Given the description of an element on the screen output the (x, y) to click on. 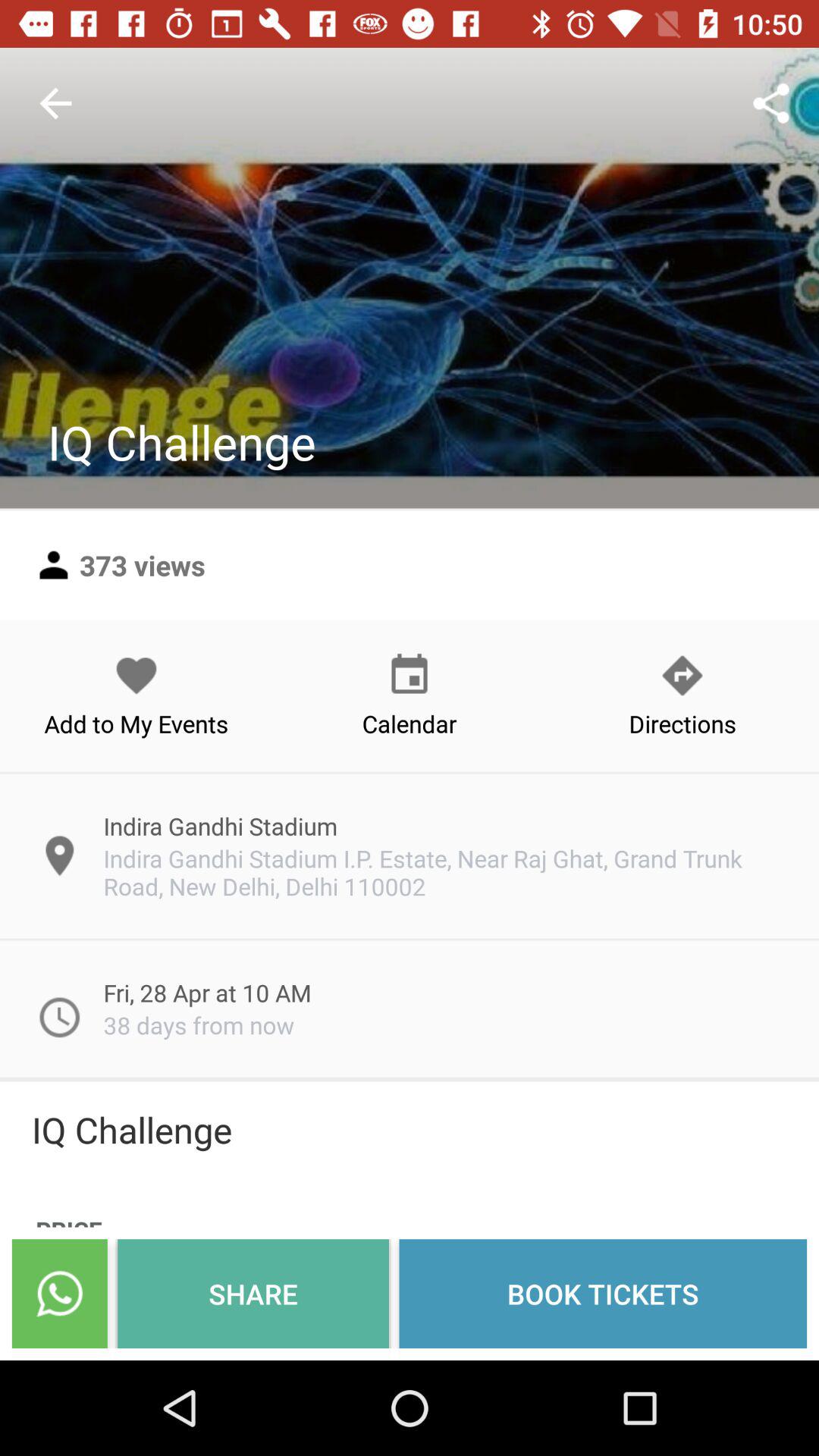
launch the item next to share (603, 1293)
